Given the description of an element on the screen output the (x, y) to click on. 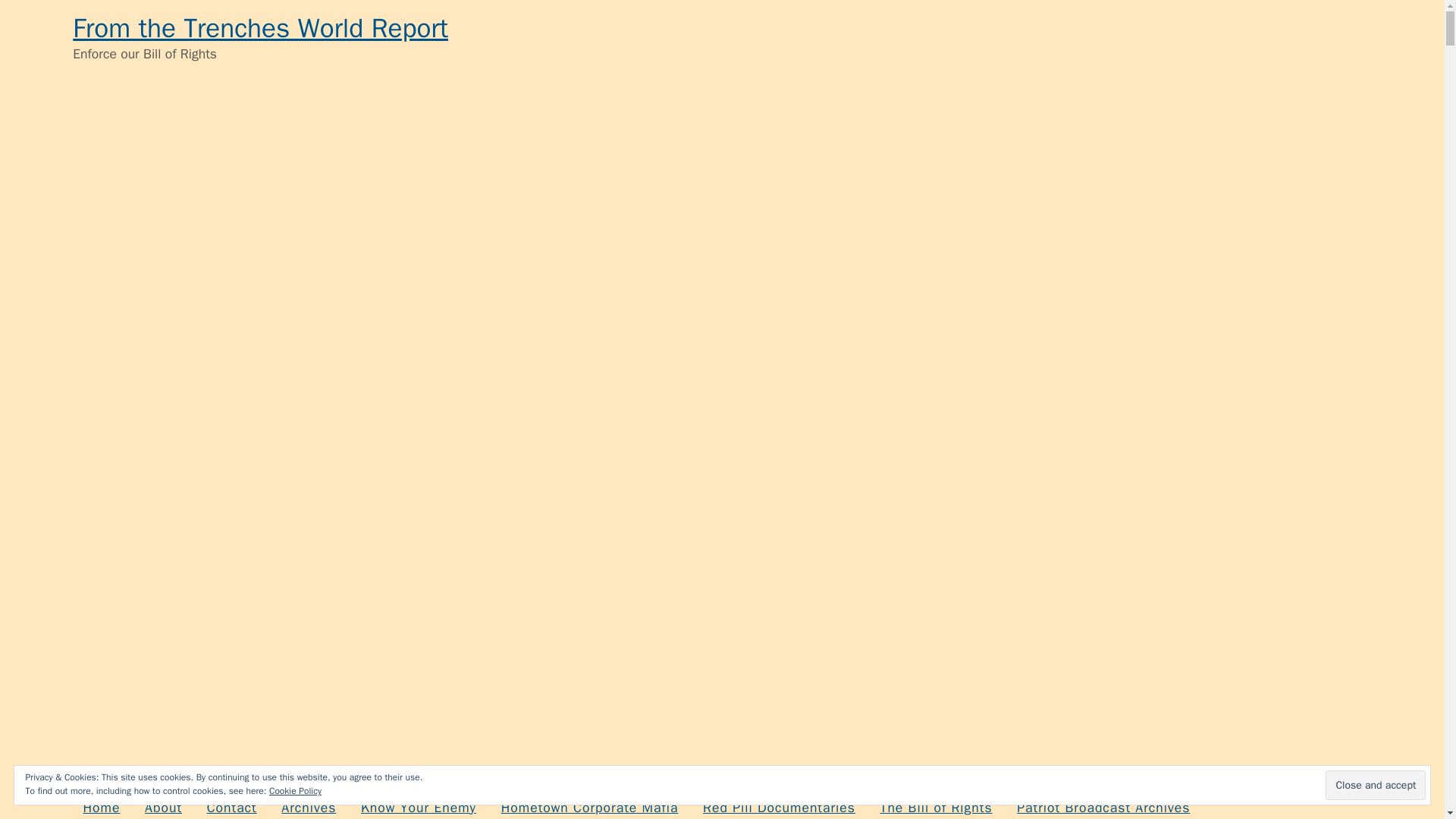
Archives (308, 804)
Close and accept (1374, 785)
Know Your Enemy (418, 804)
Contact (231, 804)
Home (100, 804)
From the Trenches World Report (260, 28)
The Bill of Rights (935, 804)
Red Pill Documentaries (778, 804)
Patriot Broadcast Archives (1103, 804)
About (163, 804)
